Given the description of an element on the screen output the (x, y) to click on. 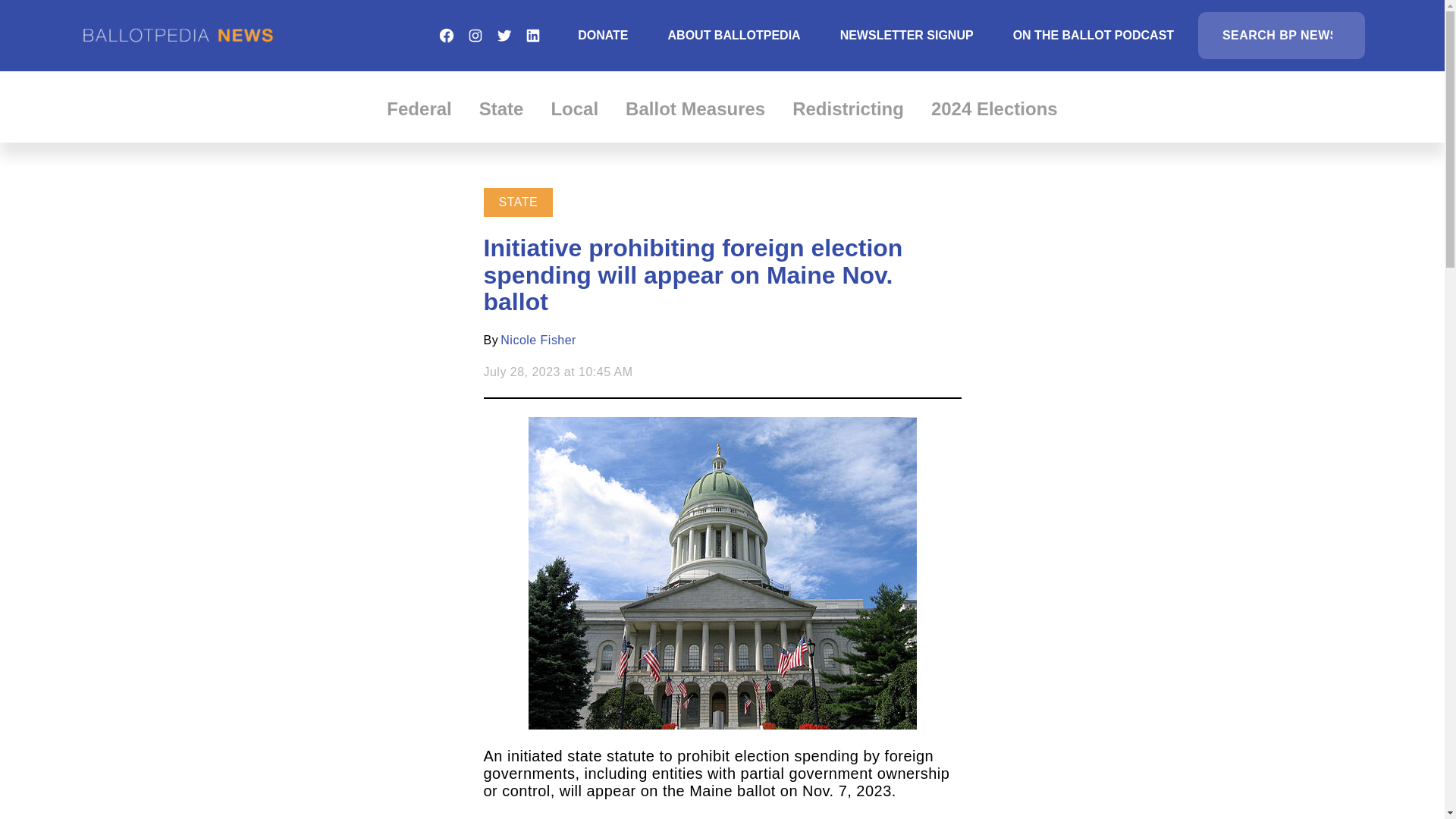
Federal (419, 108)
Instagram (475, 35)
State (501, 108)
Local (574, 108)
NEWSLETTER SIGNUP (906, 35)
LinkedIn (532, 35)
STATE (518, 201)
ON THE BALLOT PODCAST (1093, 35)
Ballot Measures (695, 108)
ABOUT BALLOTPEDIA (734, 35)
